Given the description of an element on the screen output the (x, y) to click on. 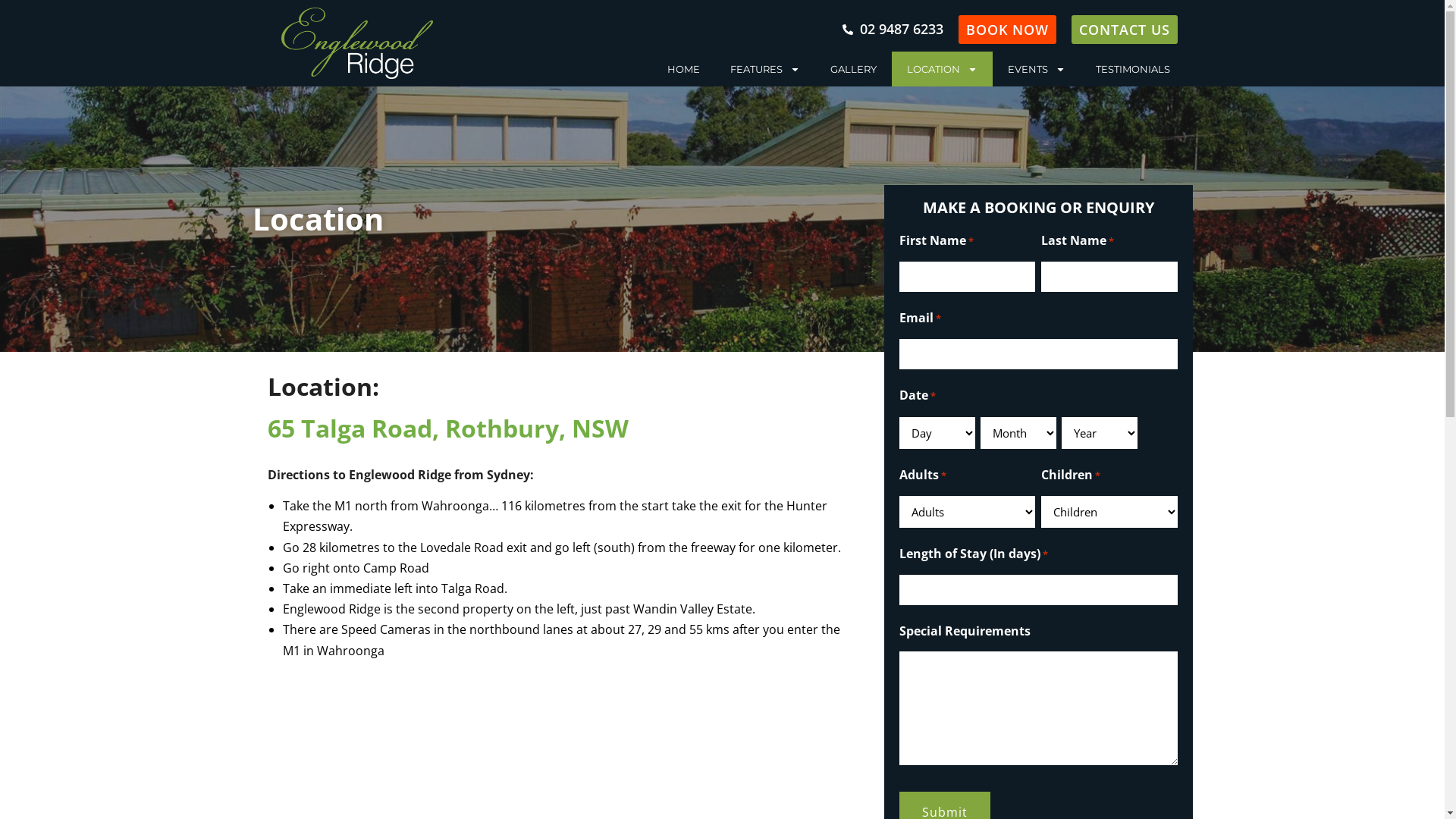
GALLERY Element type: text (852, 68)
CONTACT US Element type: text (1123, 29)
FEATURES Element type: text (764, 68)
LOCATION Element type: text (941, 68)
HOME Element type: text (683, 68)
EVENTS Element type: text (1035, 68)
BOOK NOW Element type: text (1007, 29)
02 9487 6233 Element type: text (892, 28)
TESTIMONIALS Element type: text (1131, 68)
